Given the description of an element on the screen output the (x, y) to click on. 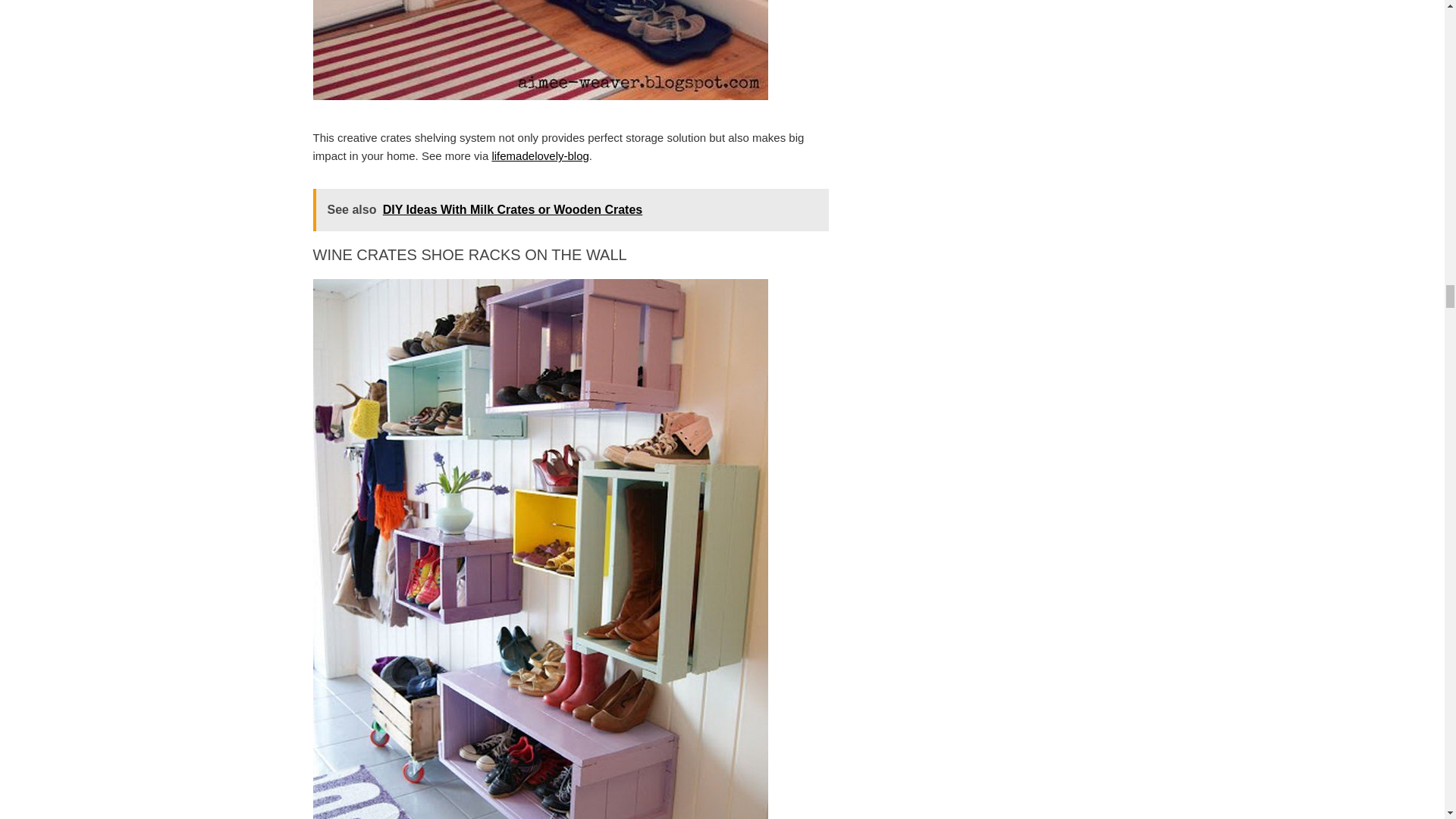
lifemadelovely-blog (540, 155)
See also  DIY Ideas With Milk Crates or Wooden Crates (570, 209)
